Given the description of an element on the screen output the (x, y) to click on. 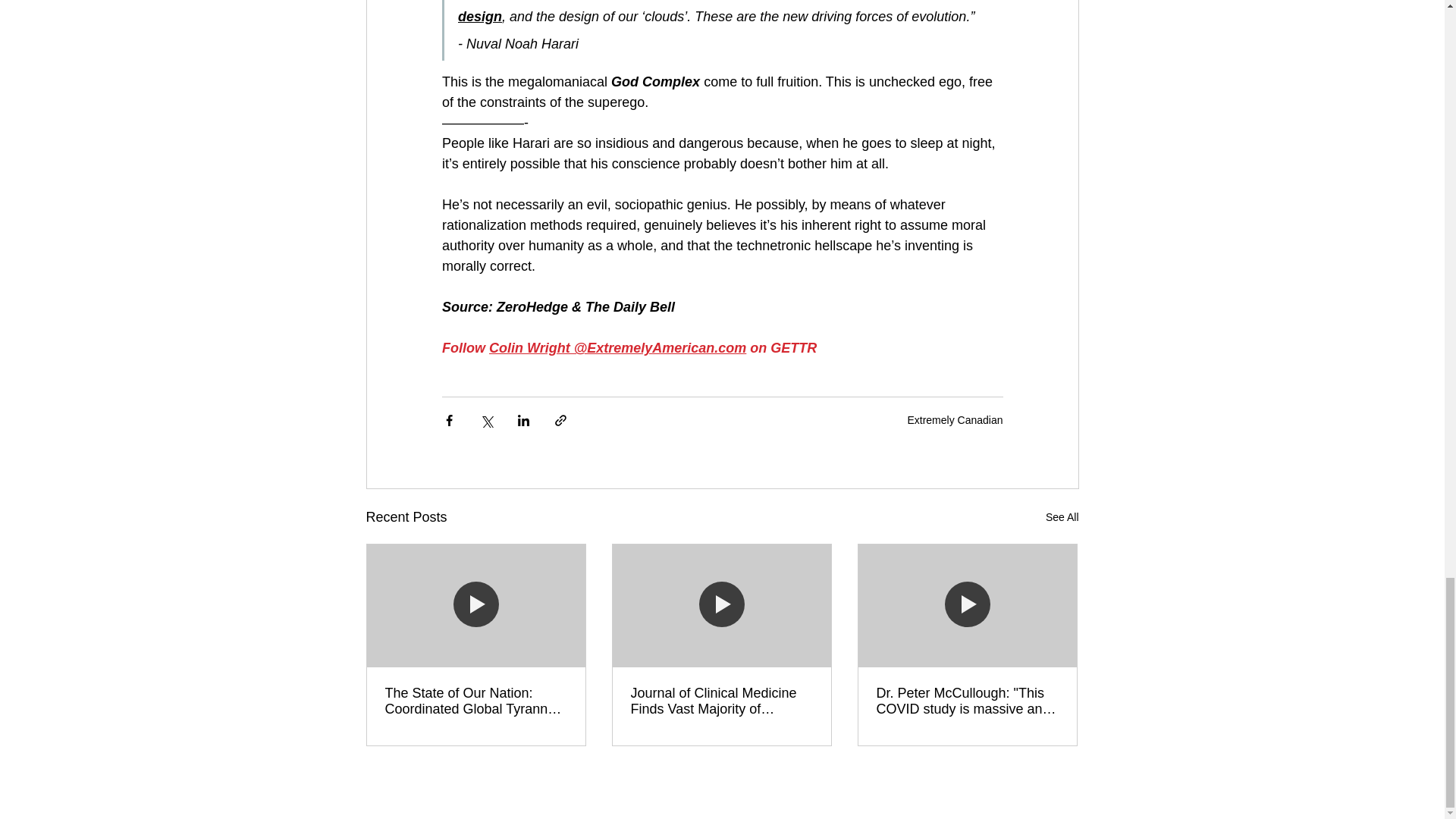
 on GETTR (780, 347)
Follow  (464, 347)
Extremely Canadian (955, 419)
See All (1061, 517)
